Given the description of an element on the screen output the (x, y) to click on. 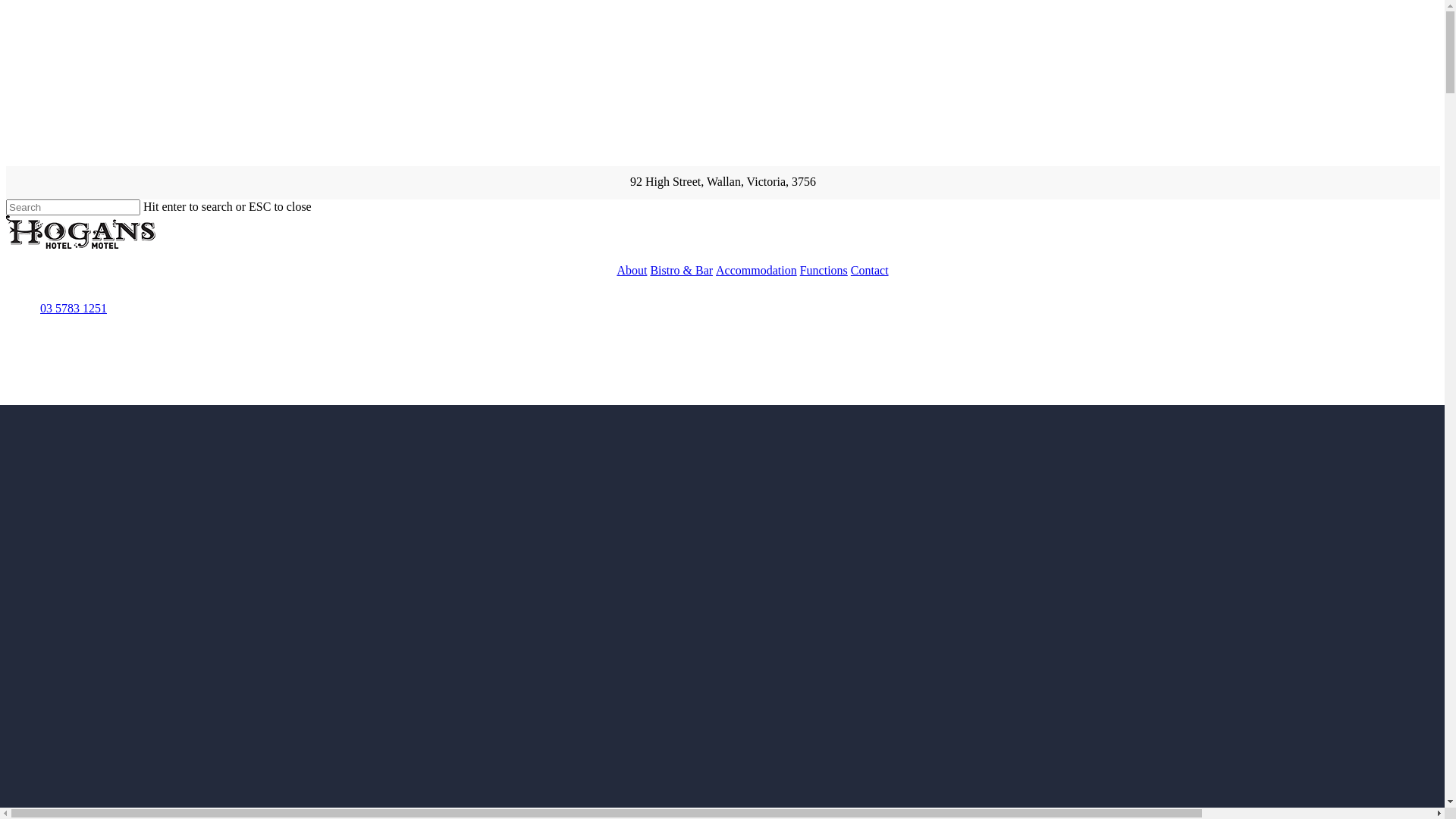
Bistro Menu Element type: text (106, 755)
Accommodation Element type: text (756, 269)
Contact Element type: text (869, 269)
About Element type: text (631, 269)
Functions Element type: text (823, 269)
Order Takeaway Element type: text (188, 755)
03 5783 1251 Element type: text (71, 307)
Book Bistro Element type: text (35, 755)
Bistro & Bar Element type: text (680, 269)
Skip to main content Element type: text (5, 5)
